Given the description of an element on the screen output the (x, y) to click on. 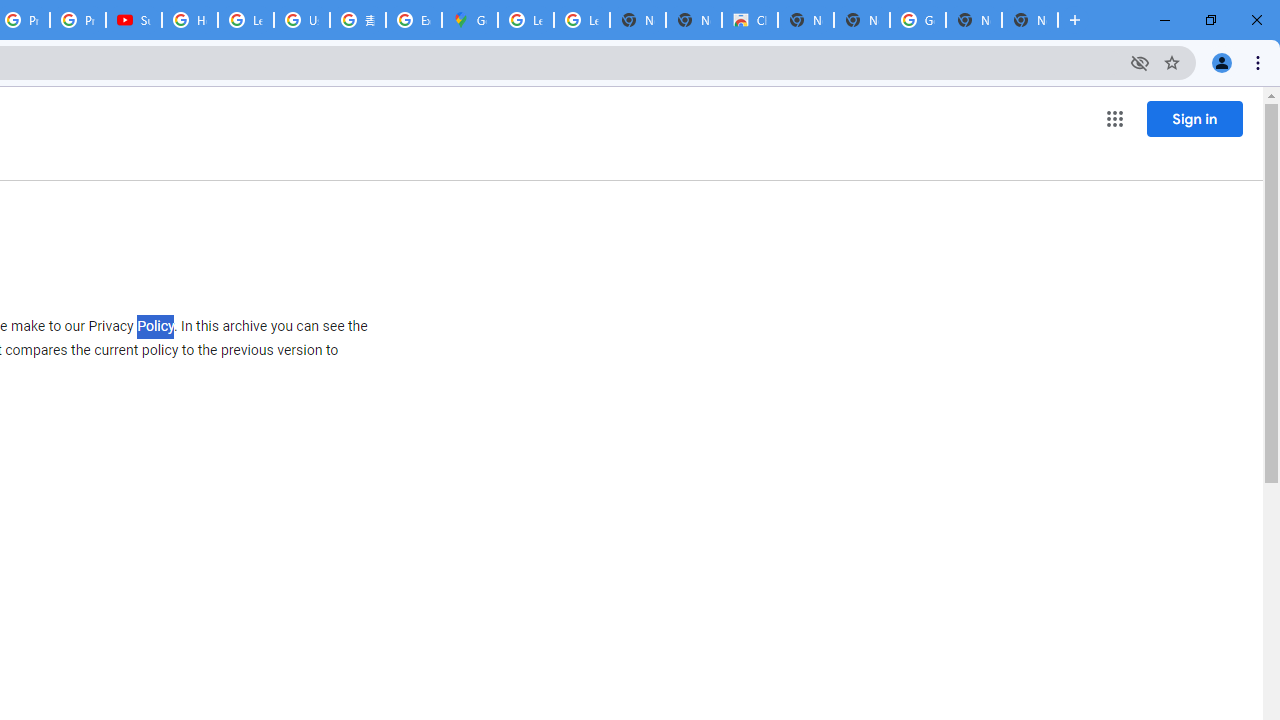
How Chrome protects your passwords - Google Chrome Help (189, 20)
